Given the description of an element on the screen output the (x, y) to click on. 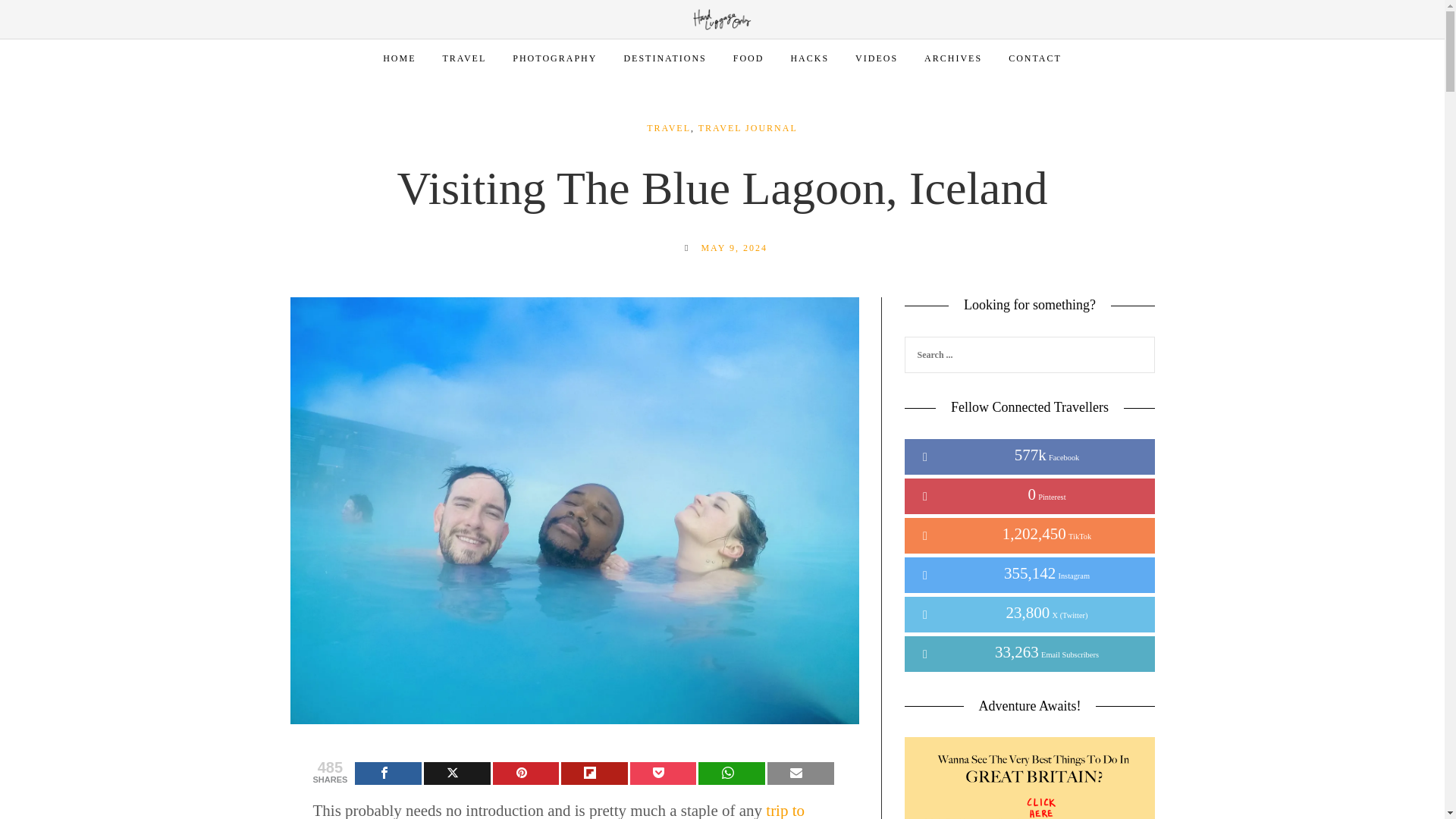
PHOTOGRAPHY (554, 58)
Search for : (1029, 354)
May 9, 2024 (733, 247)
Hand Luggage Only (722, 18)
HOME (398, 58)
TRAVEL (464, 58)
